Given the description of an element on the screen output the (x, y) to click on. 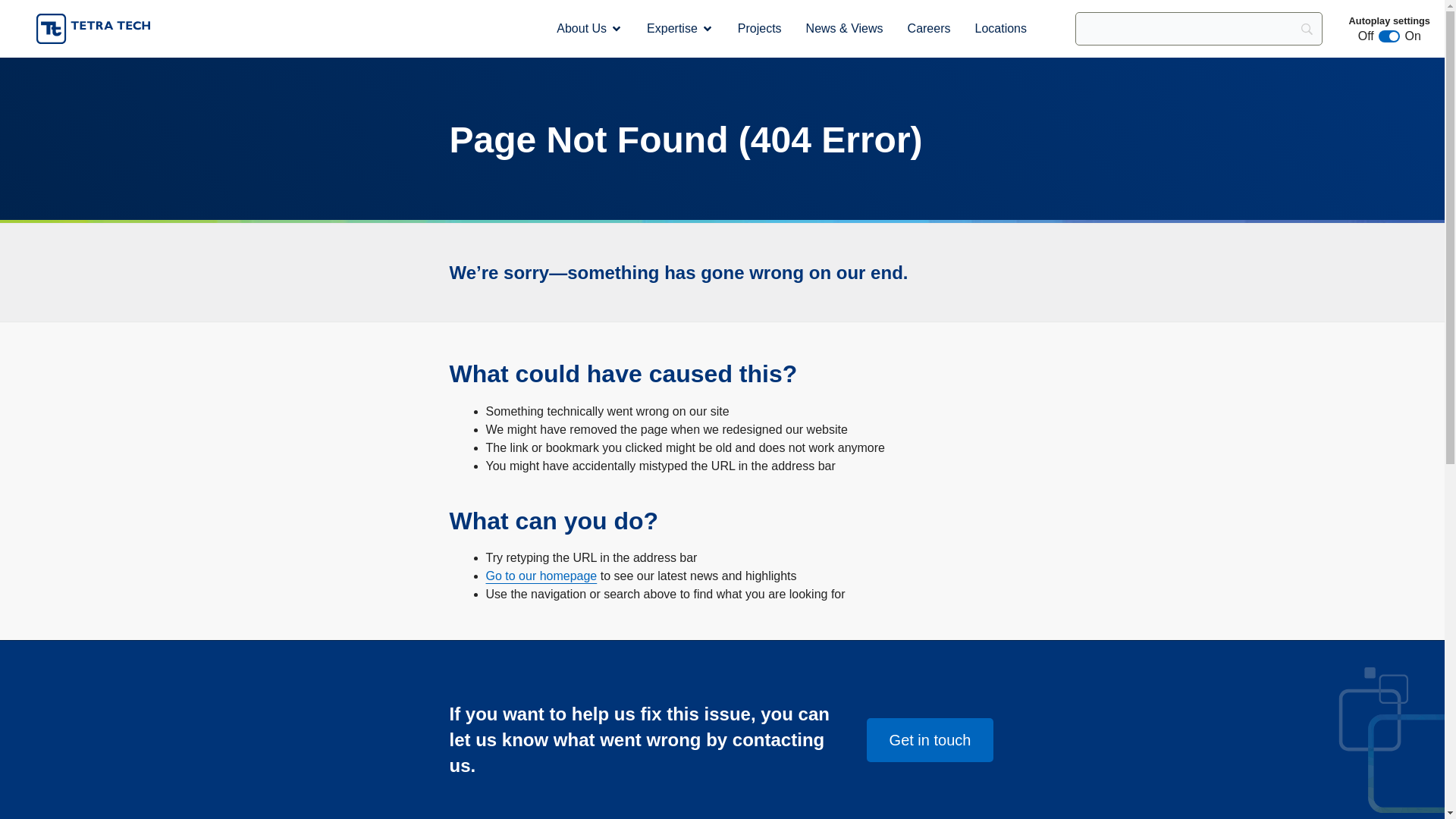
Expertise (671, 28)
Locations (1000, 28)
Projects (759, 28)
About Us (581, 28)
Open Expertise (707, 28)
Careers (928, 28)
Open About Us (616, 28)
